Given the description of an element on the screen output the (x, y) to click on. 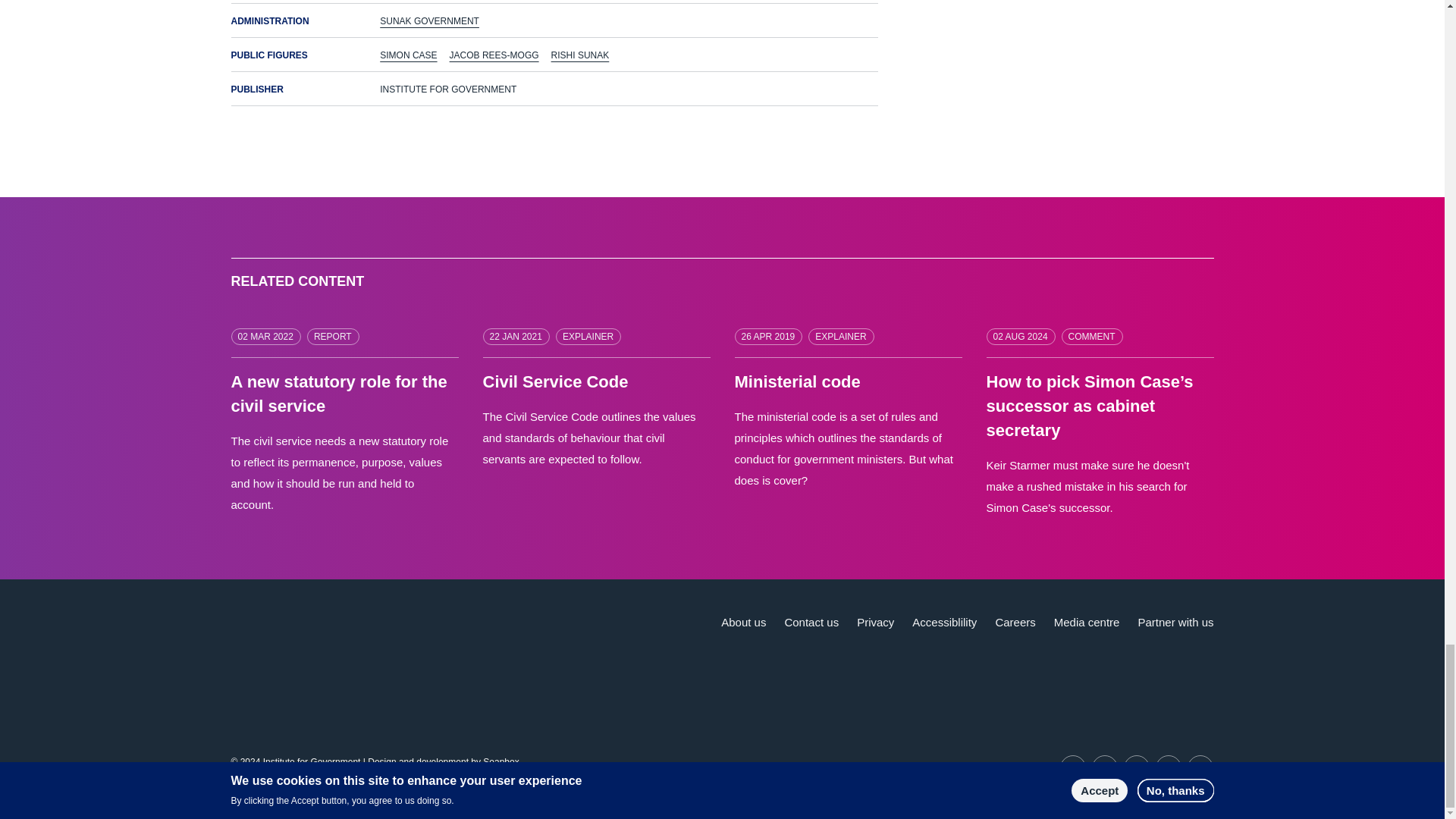
Visit IfG Twitter profile (1072, 768)
Return to the homepage (321, 639)
Visit IfG LinkedIn profile (1105, 768)
